Given the description of an element on the screen output the (x, y) to click on. 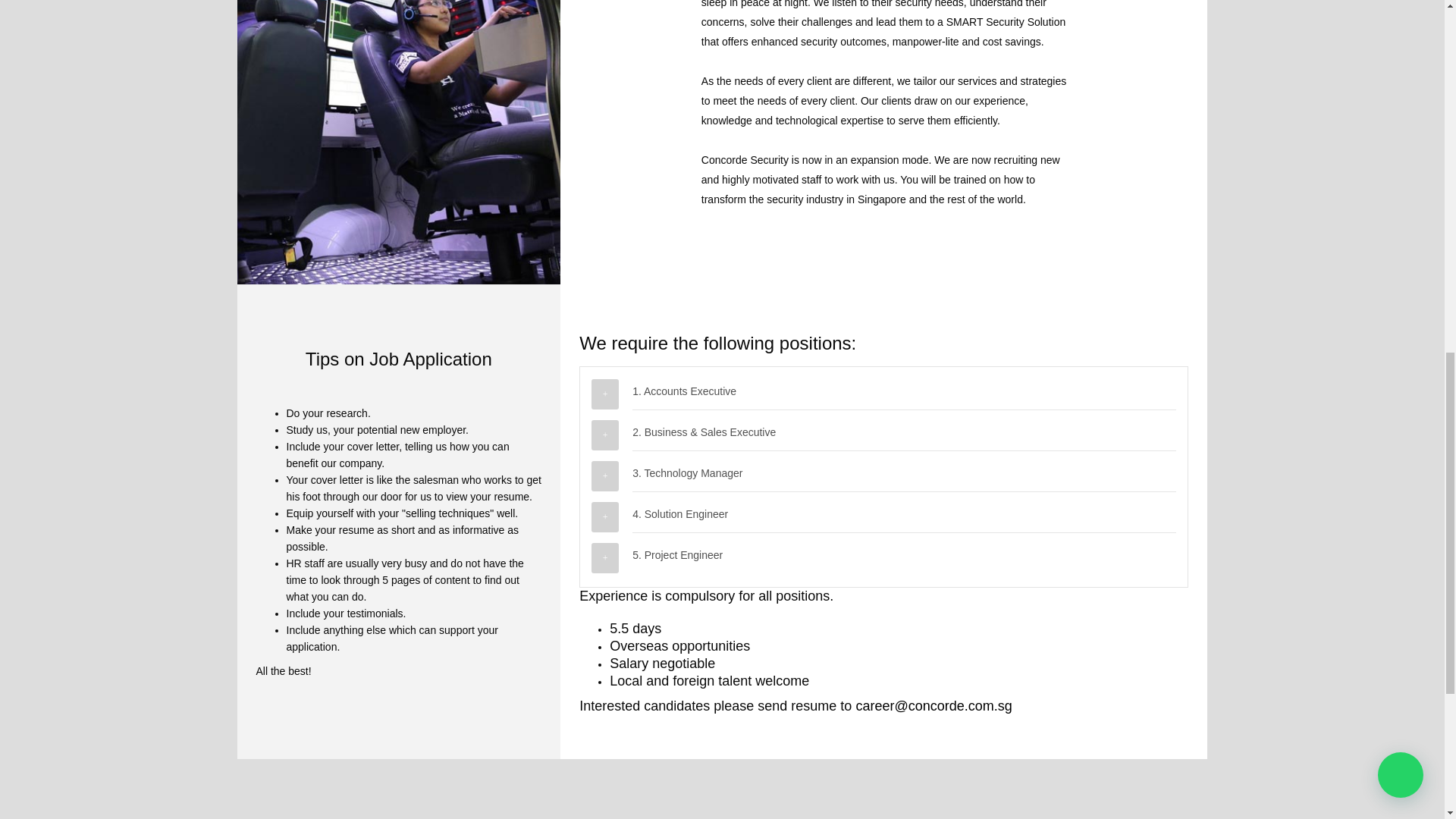
1. Accounts Executive (903, 389)
5. Project Engineer (903, 552)
4. Solution Engineer (903, 511)
3. Technology Manager (903, 471)
